Given the description of an element on the screen output the (x, y) to click on. 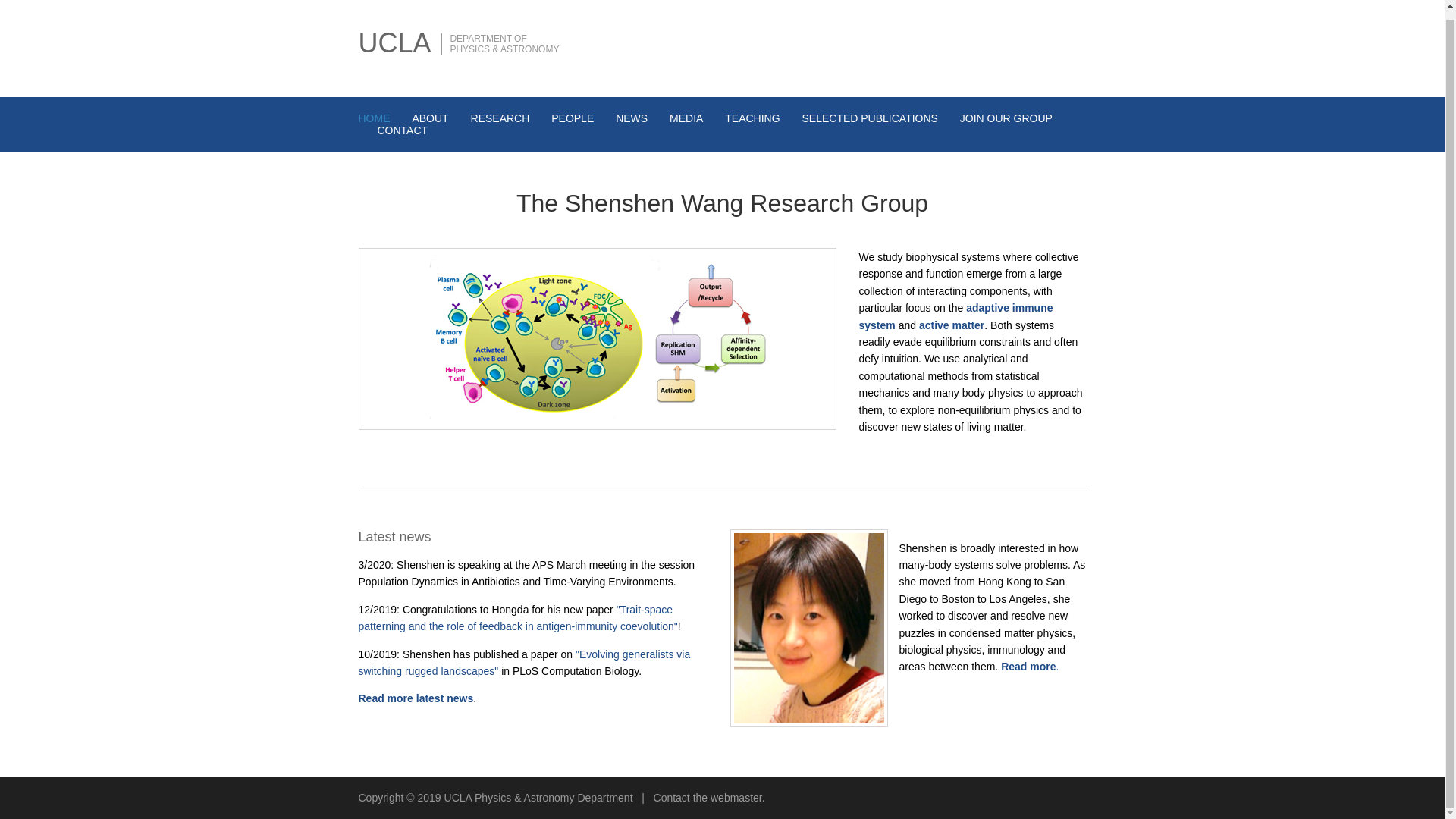
active matter (951, 325)
CONTACT (402, 130)
Read more latest news (415, 698)
NEWS (631, 118)
Read more. (1029, 666)
Contact the webmaster (707, 797)
"Evolving generalists via switching rugged landscapes" (524, 662)
RESEARCH (499, 118)
MEDIA (686, 118)
ABOUT (430, 118)
adaptive immune system (955, 316)
HOME (374, 118)
SELECTED PUBLICATIONS (869, 118)
UCLA (394, 42)
